Given the description of an element on the screen output the (x, y) to click on. 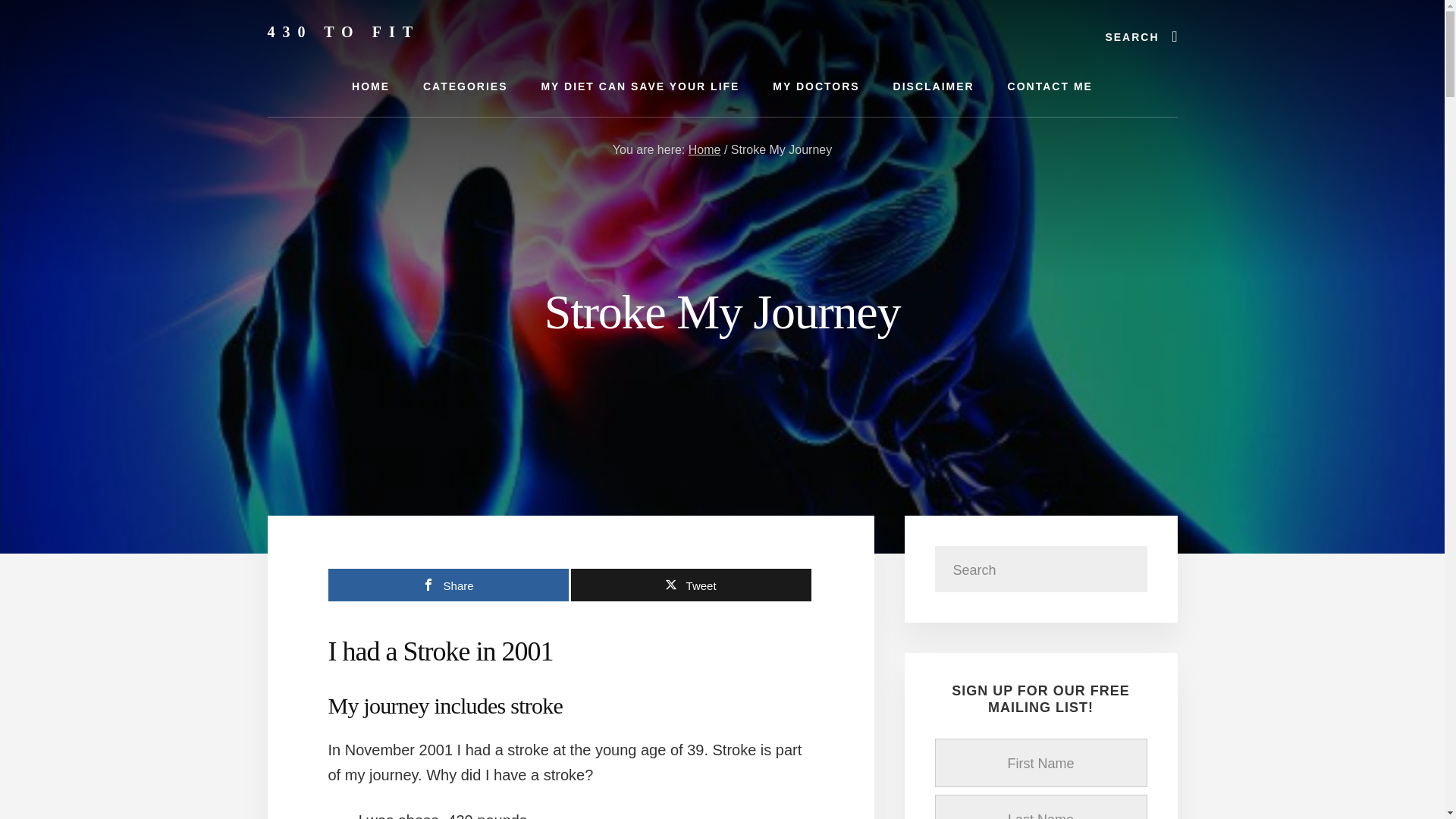
430 TO FIT (343, 31)
MY DIET CAN SAVE YOUR LIFE (639, 86)
Home (704, 149)
Share (447, 584)
Tweet (690, 584)
DISCLAIMER (933, 86)
CONTACT ME (1050, 86)
CATEGORIES (464, 86)
MY DOCTORS (816, 86)
